Given the description of an element on the screen output the (x, y) to click on. 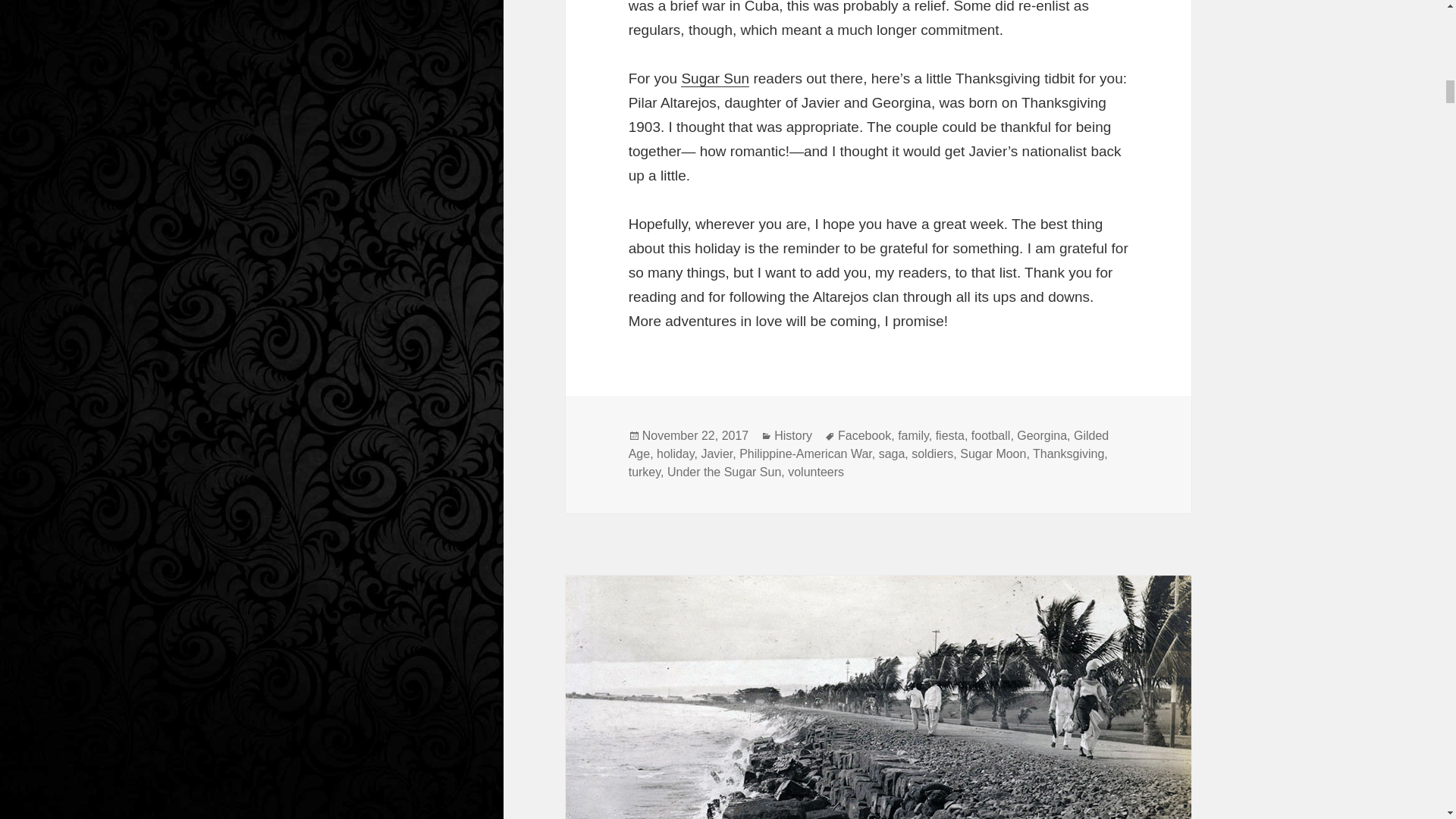
History (793, 436)
family (913, 436)
Facebook (864, 436)
fiesta (949, 436)
Sugar Sun (715, 78)
November 22, 2017 (695, 436)
